Given the description of an element on the screen output the (x, y) to click on. 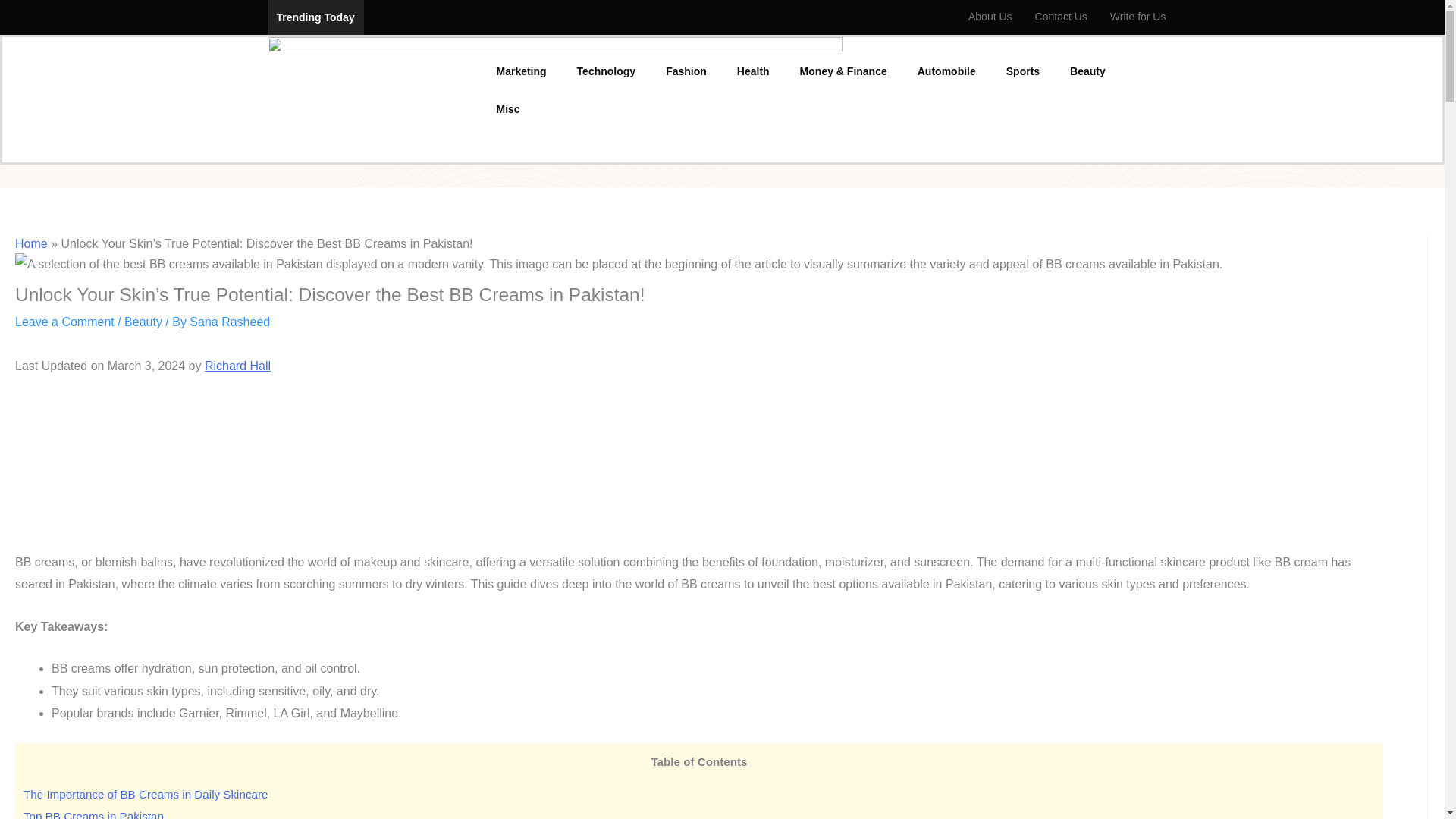
Sana Rasheed (229, 321)
Misc (507, 108)
Beauty (142, 321)
Technology (606, 71)
Write for Us (1138, 16)
Advertisement (698, 471)
Automobile (946, 71)
Sports (1022, 71)
Contact Us (1061, 16)
Fashion (686, 71)
View all posts by Sana Rasheed (229, 321)
Richard Hall (237, 365)
Home (31, 243)
Beauty (1087, 71)
Leave a Comment (64, 321)
